Given the description of an element on the screen output the (x, y) to click on. 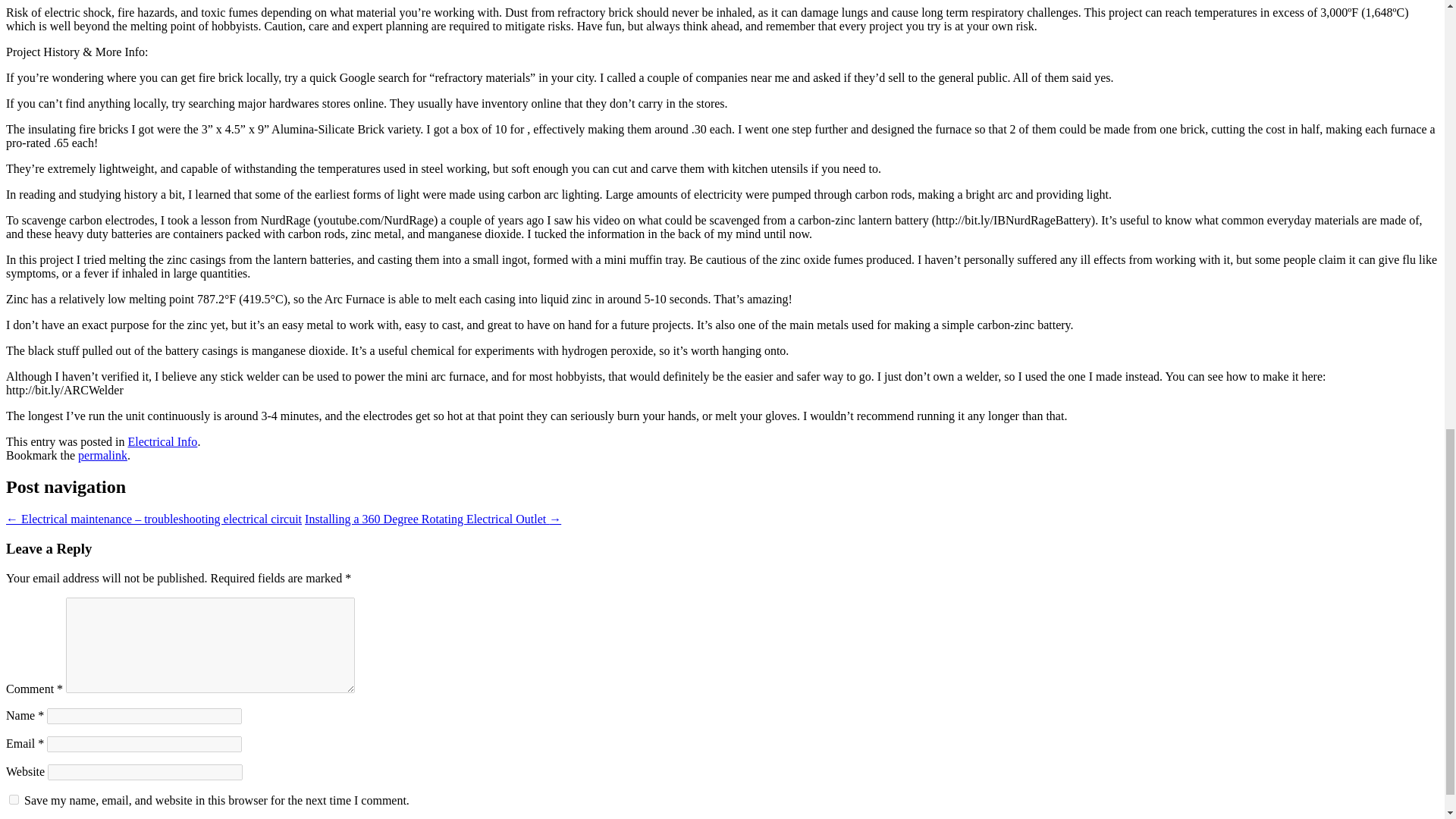
yes (13, 799)
permalink (103, 454)
Electrical Info (162, 440)
